Given the description of an element on the screen output the (x, y) to click on. 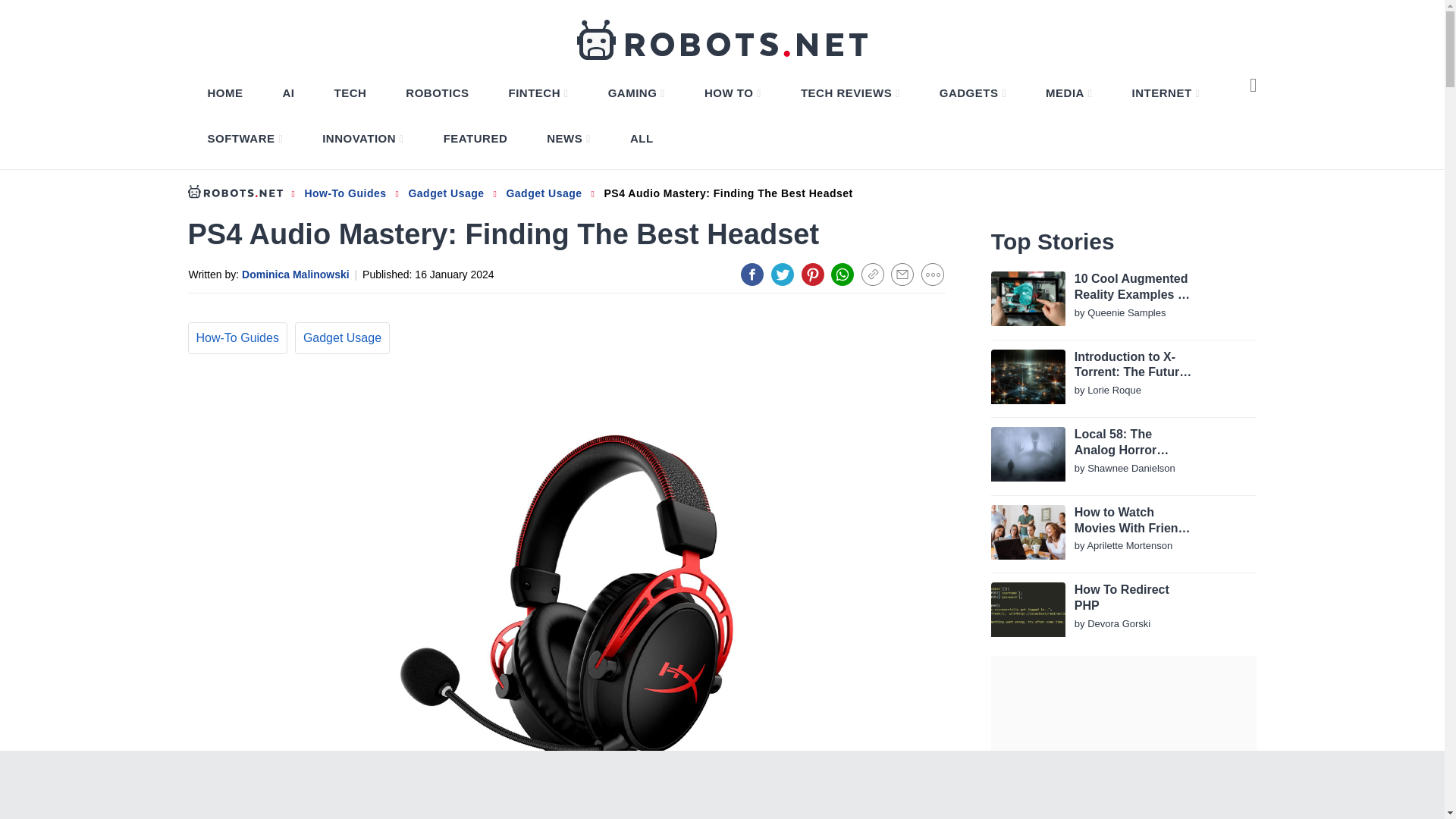
Mail the Link (902, 273)
MEDIA (1068, 93)
GADGETS (972, 93)
HOW TO (732, 93)
Share on facebook (751, 273)
GAMING (635, 93)
TECH REVIEWS (850, 93)
Share on twitter (782, 273)
ROBOTICS (436, 93)
View Less (932, 273)
Copy to Clipboard (872, 273)
FINTECH (538, 93)
Share on Pinterest (813, 273)
HOME (225, 93)
TECH (350, 93)
